Given the description of an element on the screen output the (x, y) to click on. 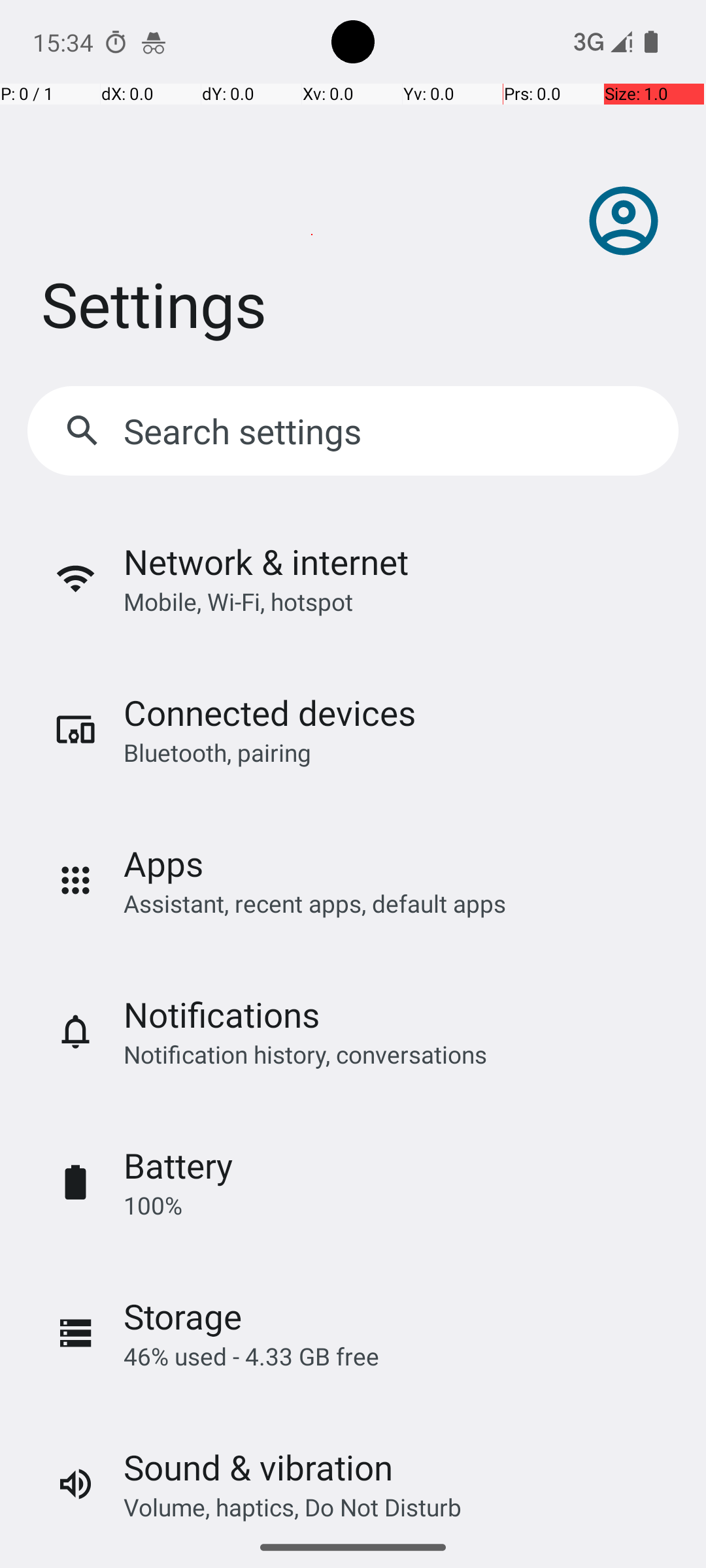
46% used - 4.33 GB free Element type: android.widget.TextView (251, 1355)
